Given the description of an element on the screen output the (x, y) to click on. 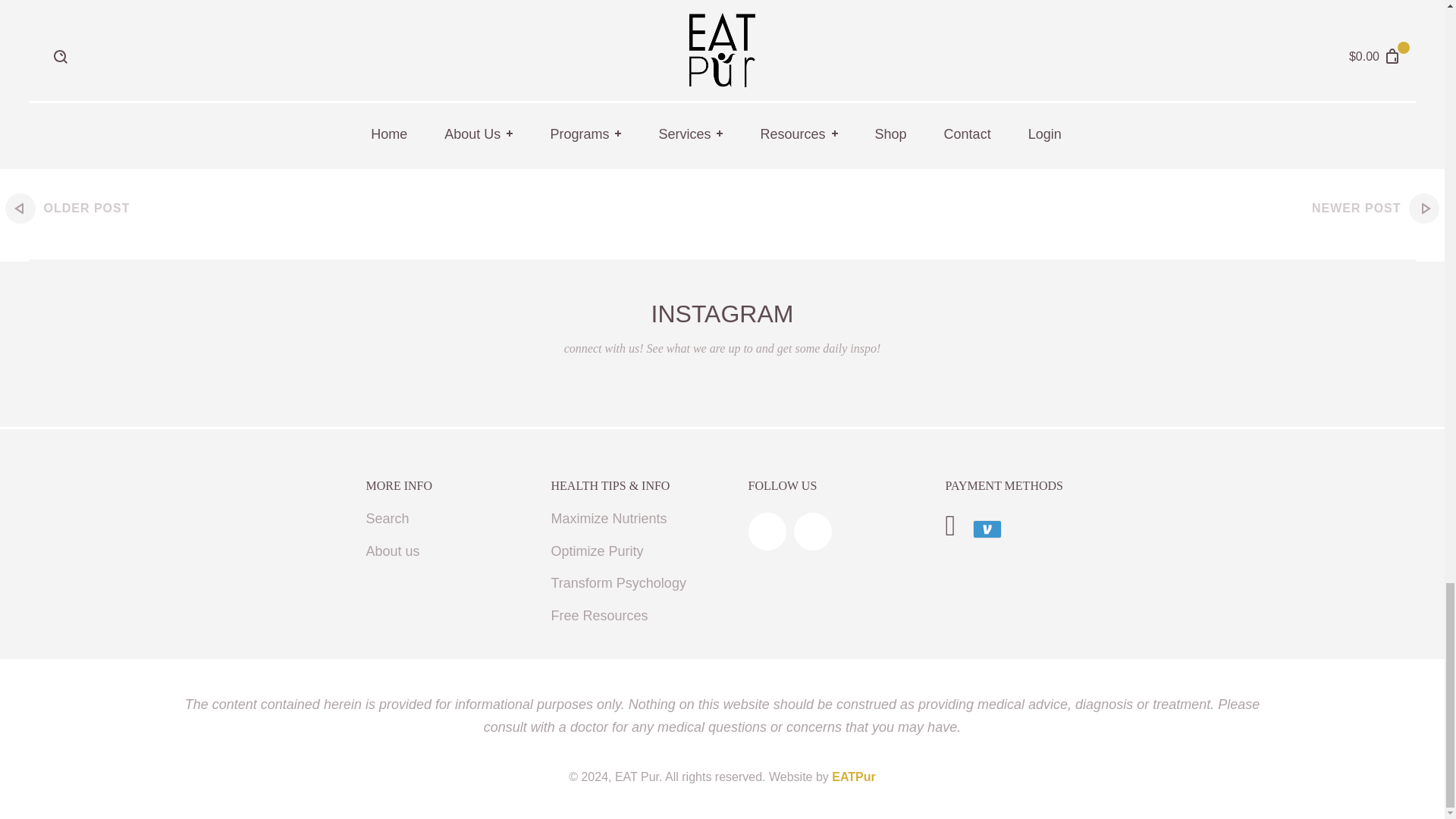
Free Resources (598, 615)
Transform Psychology (617, 583)
Optimize Purity (596, 551)
Search (387, 518)
Maximize Nutrients (608, 518)
EAT Pur on Instagram (812, 531)
About us (392, 551)
EATPur (853, 776)
EAT Pur on Facebook (767, 531)
